Given the description of an element on the screen output the (x, y) to click on. 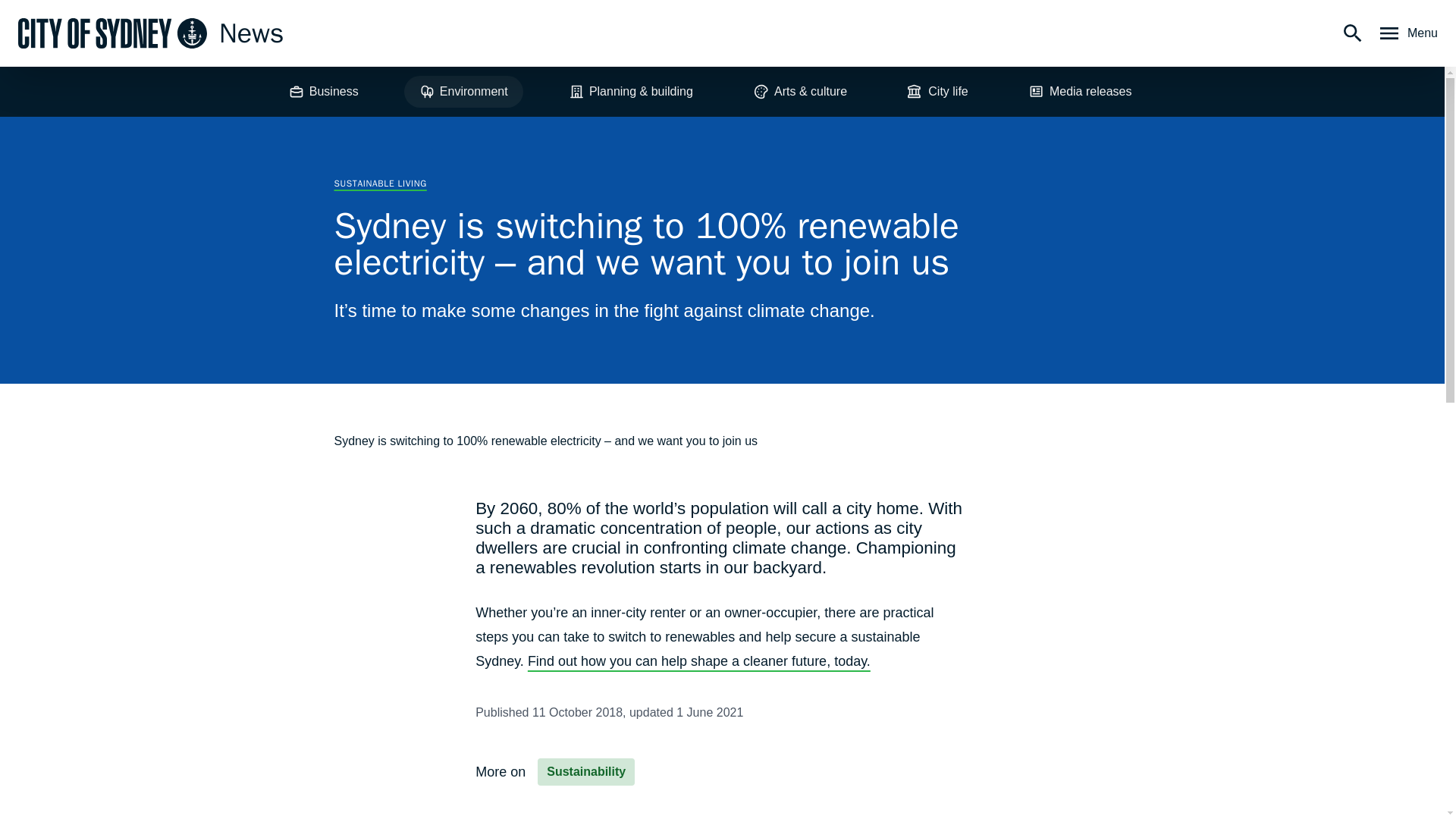
Media releases (1080, 91)
Tagged Sustainability (585, 771)
Business (323, 91)
Find out how you can help shape a cleaner future, today. (698, 661)
SUSTAINABLE LIVING (379, 183)
Environment (463, 91)
Menu (1407, 33)
City life (938, 91)
Search (1352, 33)
News (150, 33)
Sustainability (585, 771)
